Given the description of an element on the screen output the (x, y) to click on. 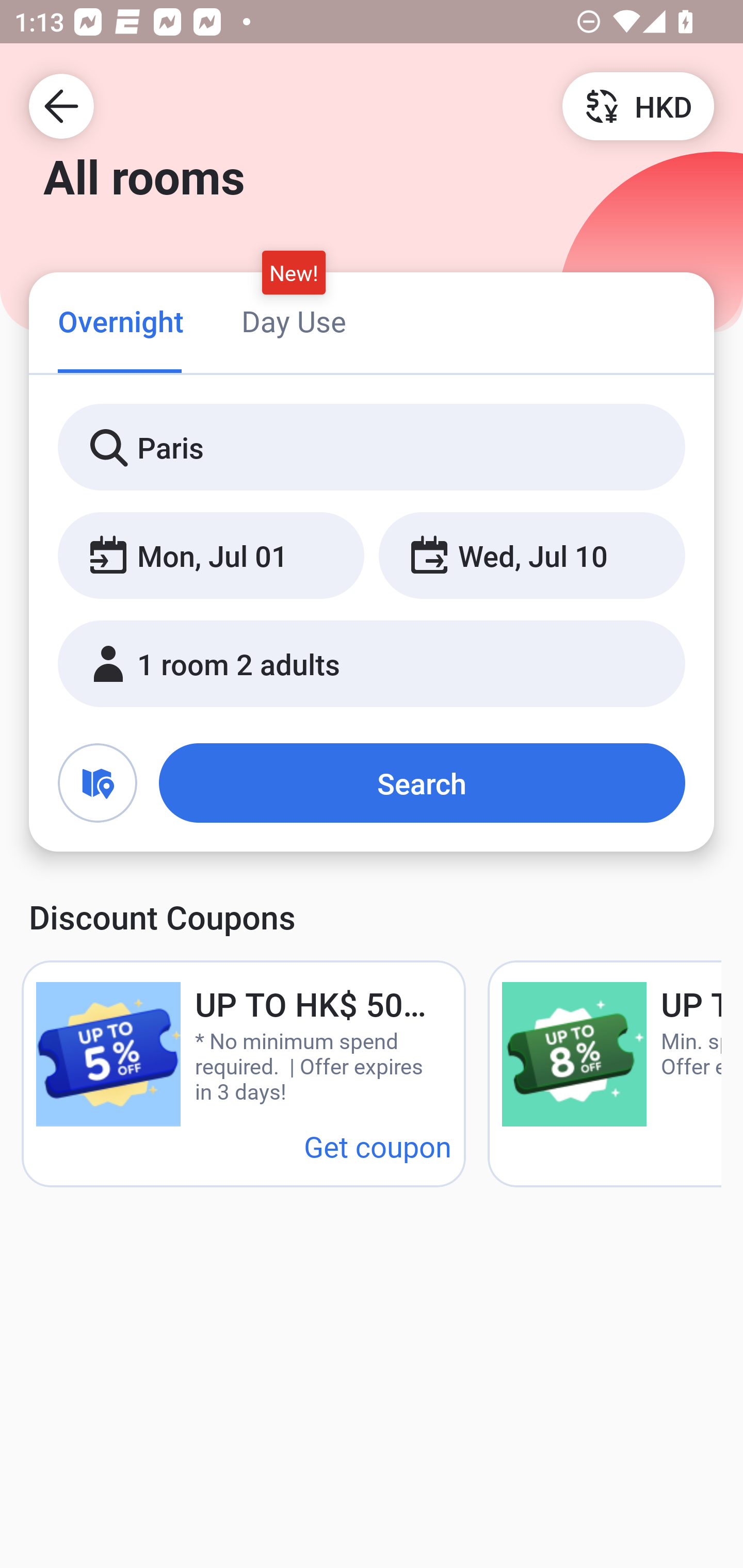
HKD (638, 105)
New! (294, 272)
Day Use (293, 321)
Paris (371, 447)
Mon, Jul 01 (210, 555)
Wed, Jul 10 (531, 555)
1 room 2 adults (371, 663)
Search (422, 783)
Get coupon (377, 1146)
